Given the description of an element on the screen output the (x, y) to click on. 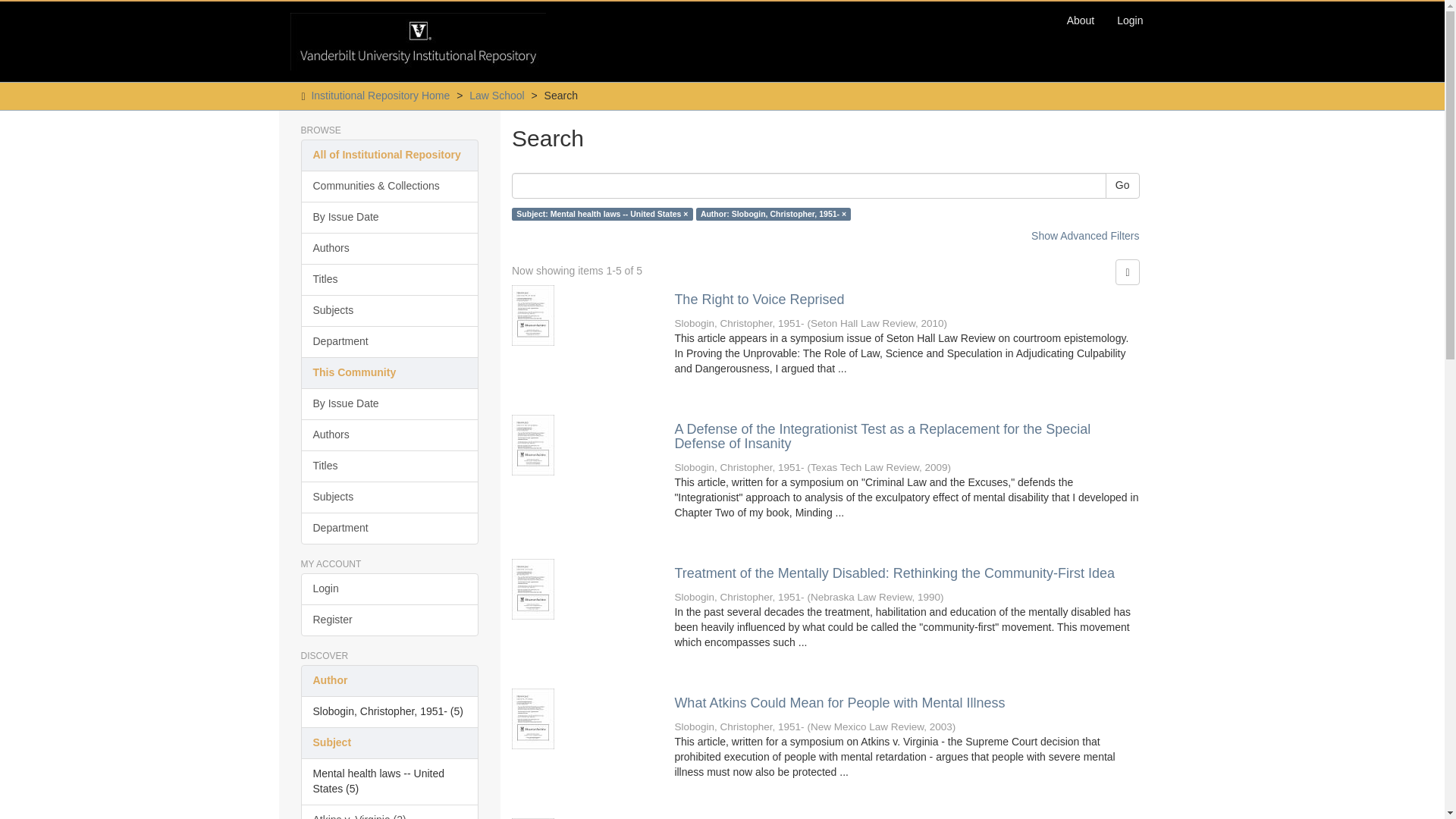
All of Institutional Repository (389, 155)
This Community (389, 373)
Login (1129, 20)
Titles (389, 466)
By Issue Date (389, 217)
Institutional Repository Home (380, 95)
By Issue Date (389, 404)
Subjects (389, 310)
Login (389, 589)
Subject (389, 743)
